Given the description of an element on the screen output the (x, y) to click on. 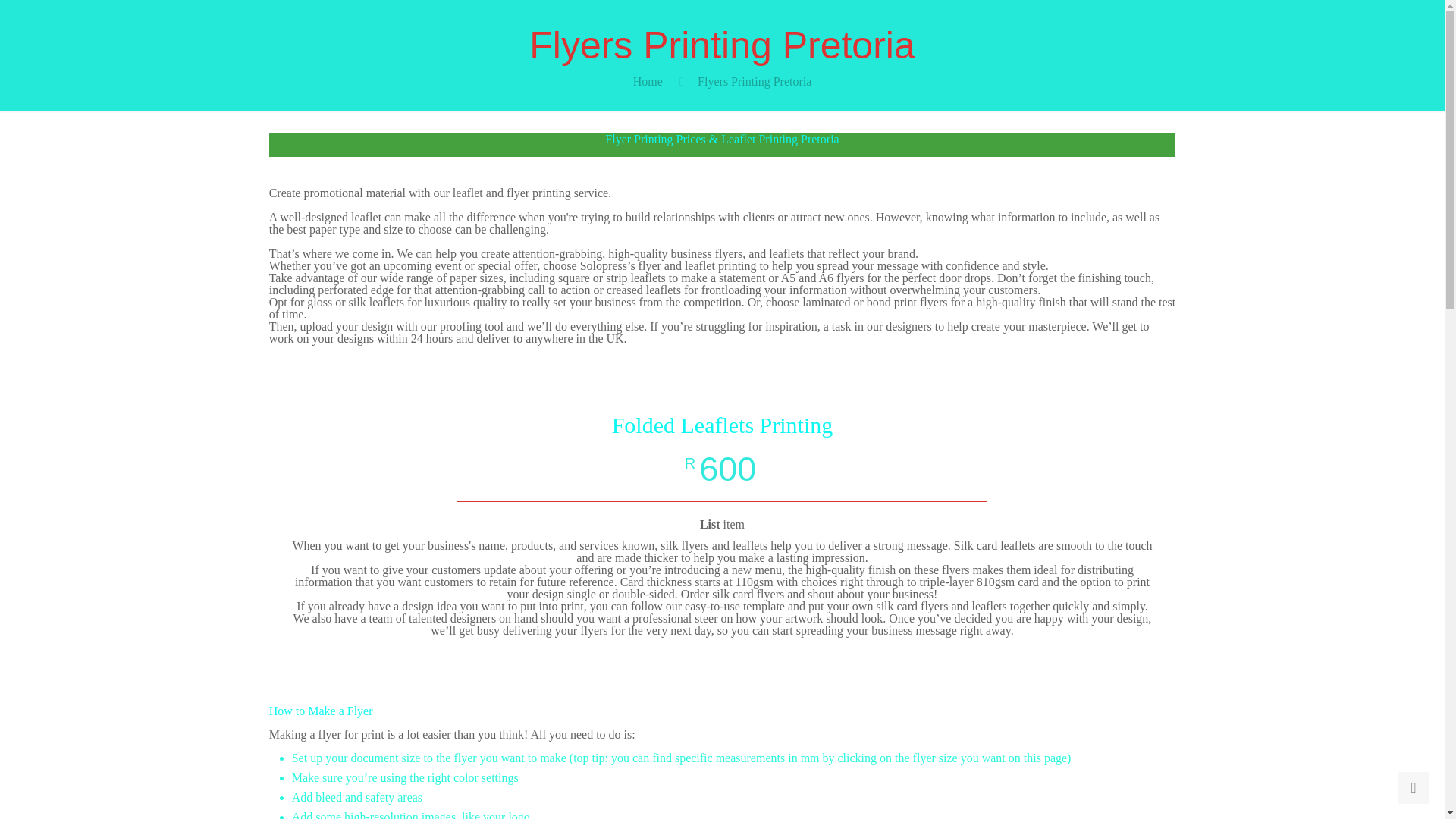
Flyers Printing Pretoria (753, 81)
Home (647, 81)
